Given the description of an element on the screen output the (x, y) to click on. 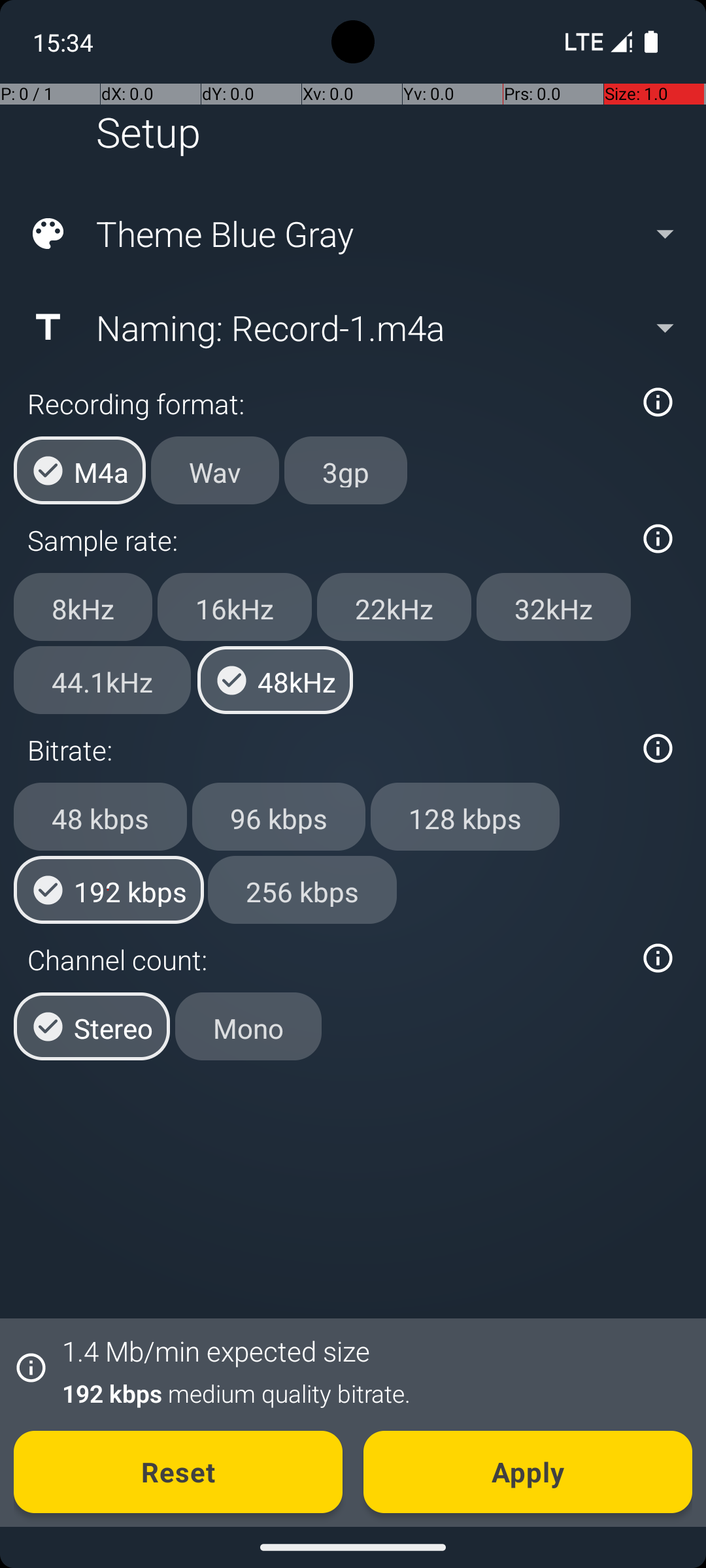
1.4 Mb/min expected size Element type: android.widget.TextView (215, 1350)
192 kbps medium quality bitrate. Element type: android.widget.TextView (370, 1392)
